Given the description of an element on the screen output the (x, y) to click on. 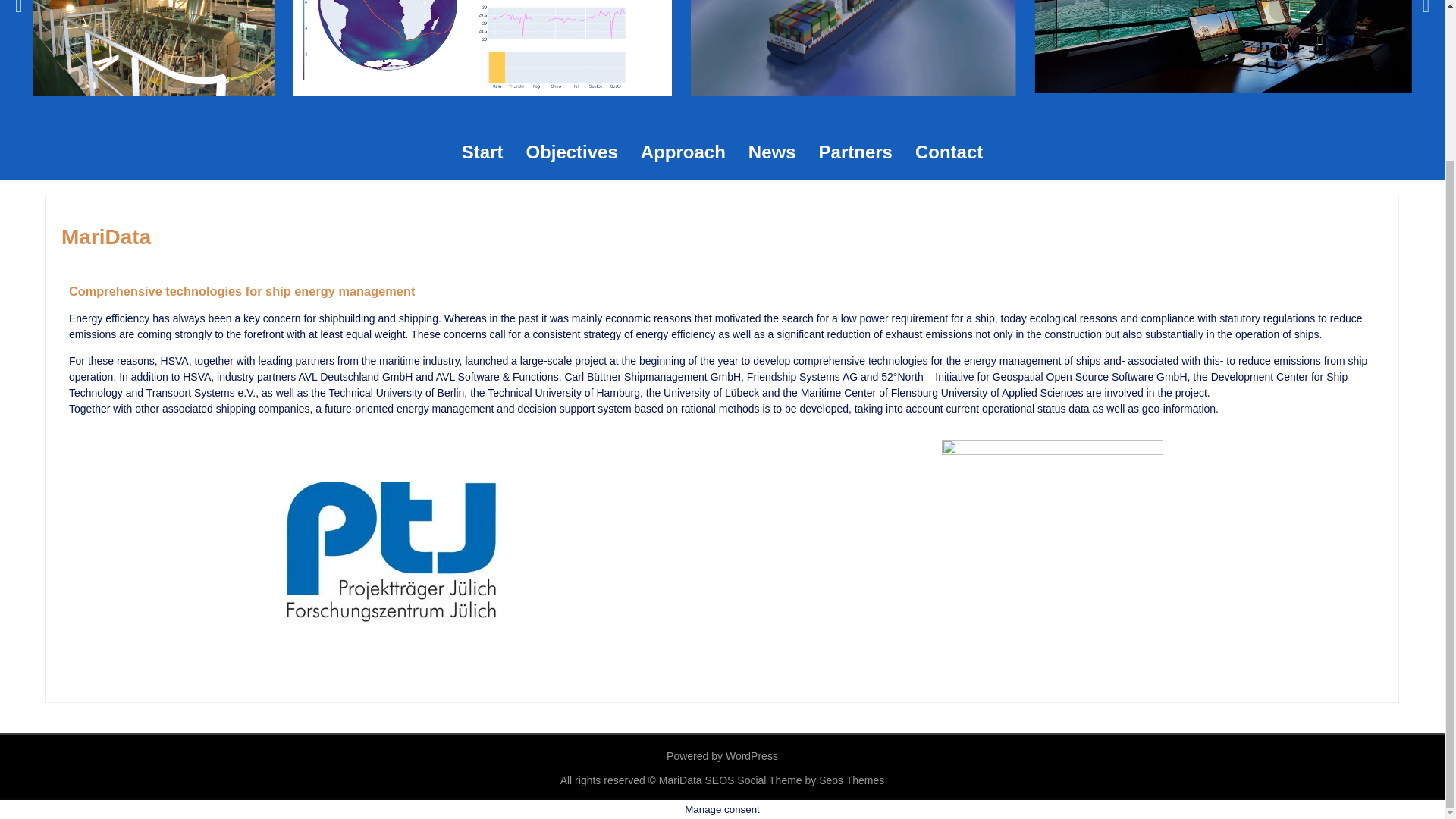
News (772, 151)
Approach (682, 151)
Powered by WordPress (721, 756)
Objectives (570, 151)
Contact (949, 151)
Partners (856, 151)
Seos Theme - SEOS Social (794, 779)
SEOS Social Theme by Seos Themes (794, 779)
Start (482, 151)
